Given the description of an element on the screen output the (x, y) to click on. 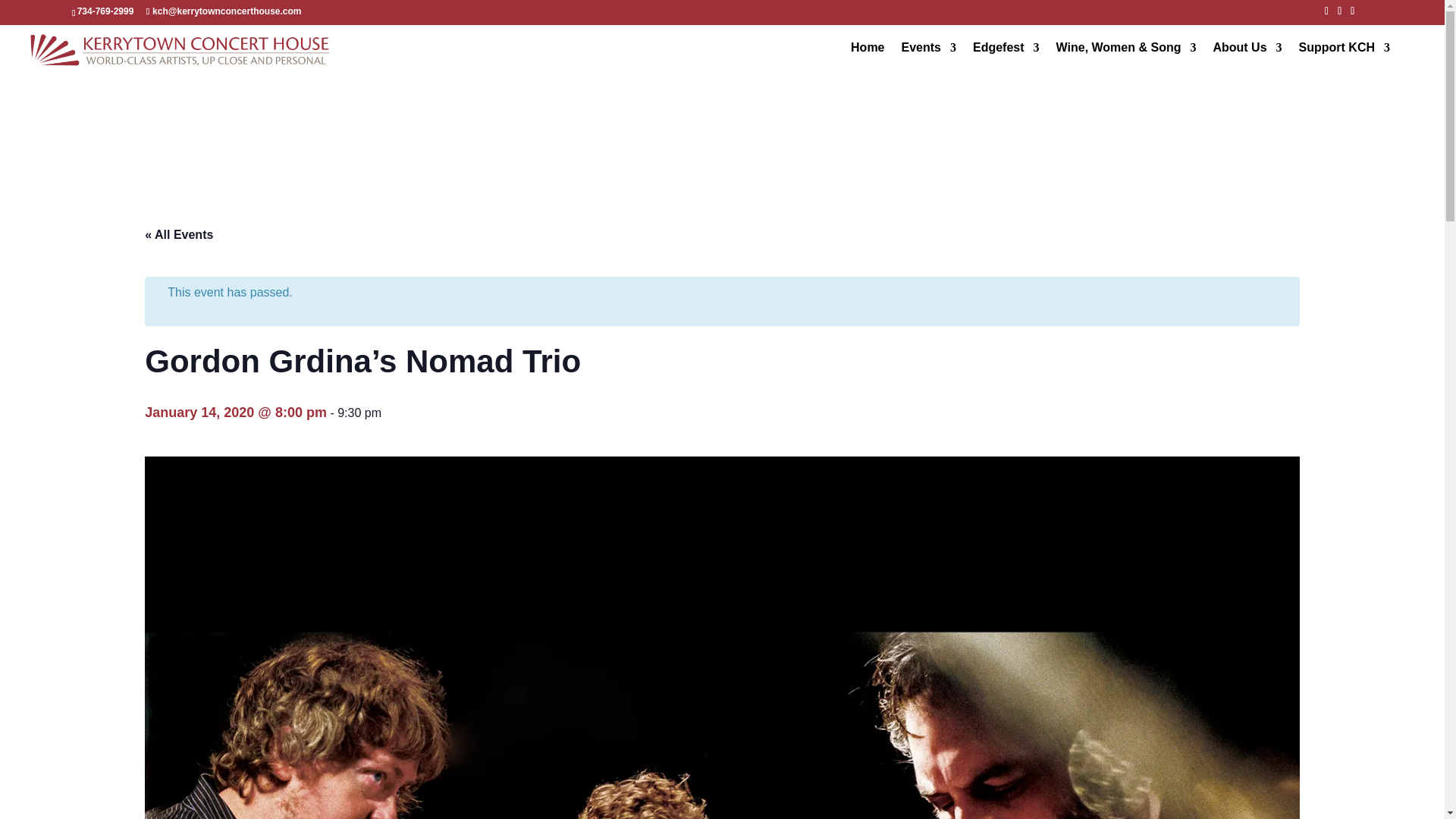
About Us (1246, 57)
Events (928, 57)
Edgefest (1005, 57)
Home (866, 57)
